Given the description of an element on the screen output the (x, y) to click on. 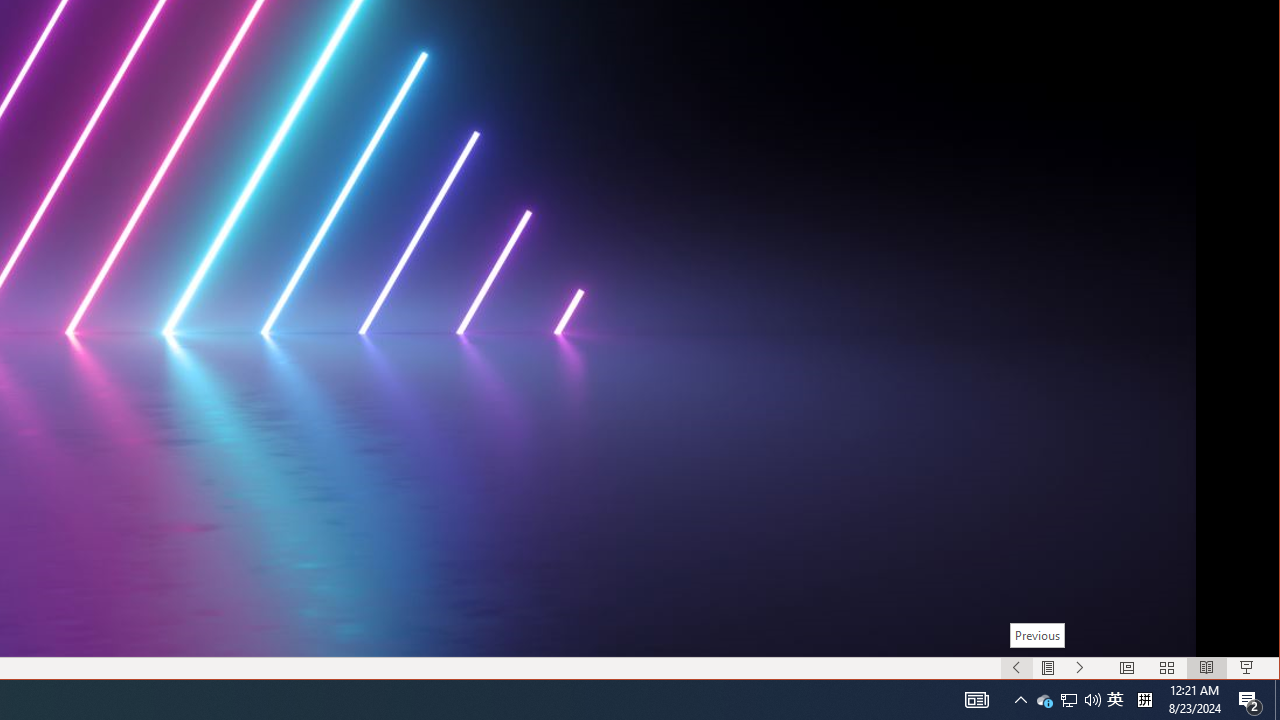
Slide Show Next On (1080, 668)
Slide Show Previous On (1016, 668)
